Given the description of an element on the screen output the (x, y) to click on. 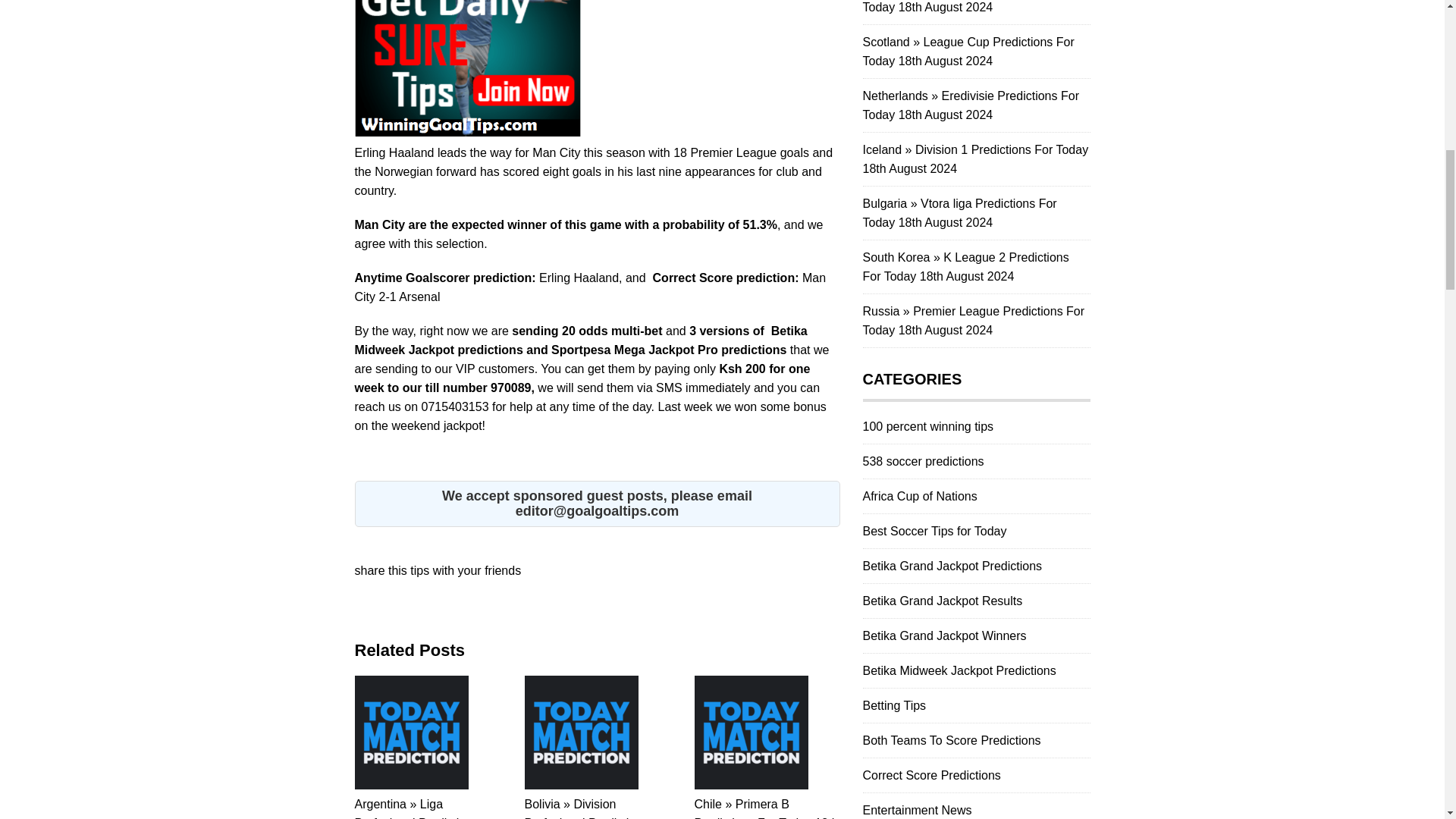
Entertainment and breaking news in kenya (917, 809)
Betika Grand Jackpot Winners for this week and weekend (944, 635)
